Given the description of an element on the screen output the (x, y) to click on. 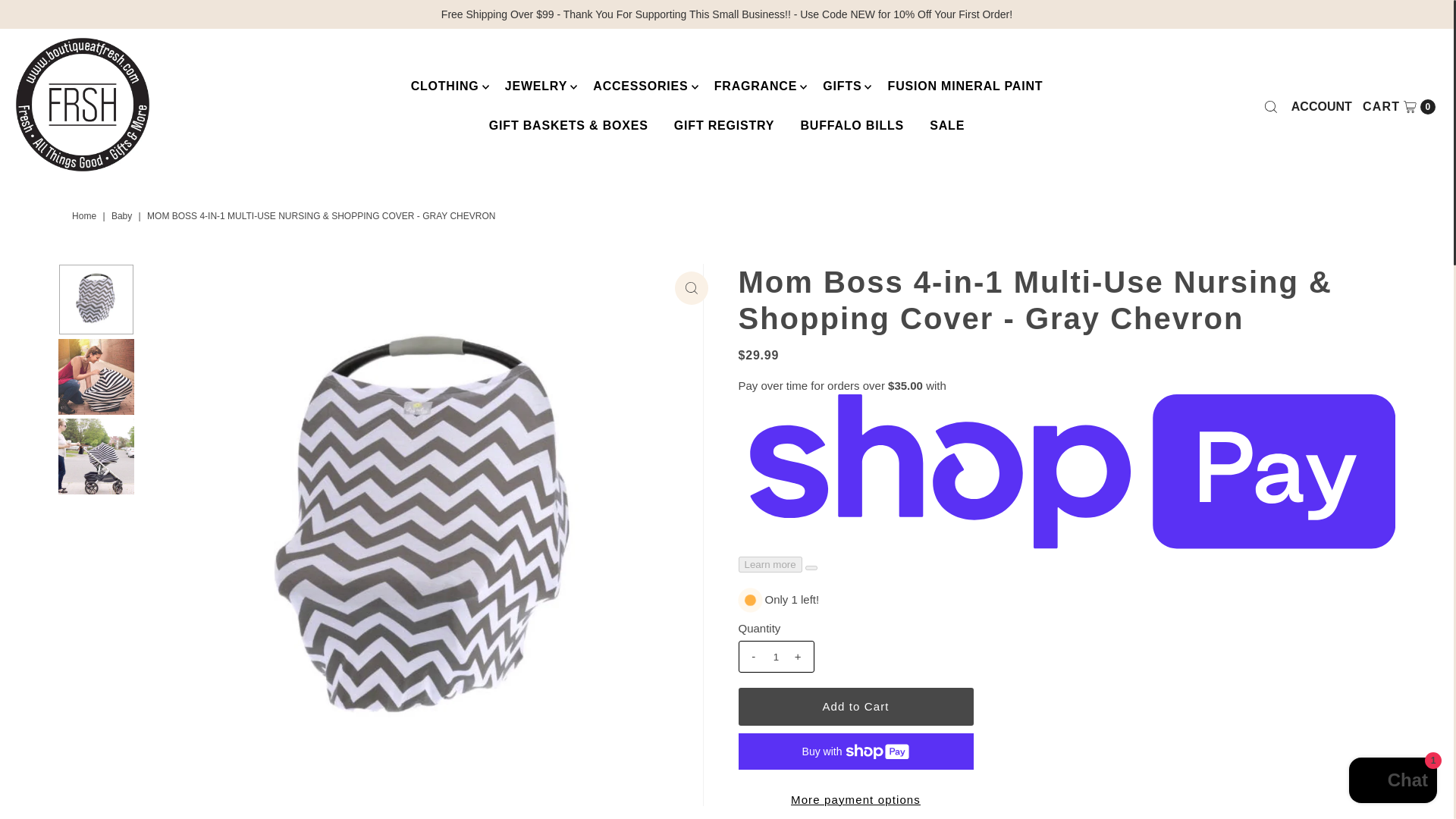
Skip to content (58, 18)
Add to Cart (856, 706)
CLOTHING (444, 86)
JEWELRY (535, 86)
Click to zoom (691, 287)
Baby (123, 215)
Home (85, 215)
